Given the description of an element on the screen output the (x, y) to click on. 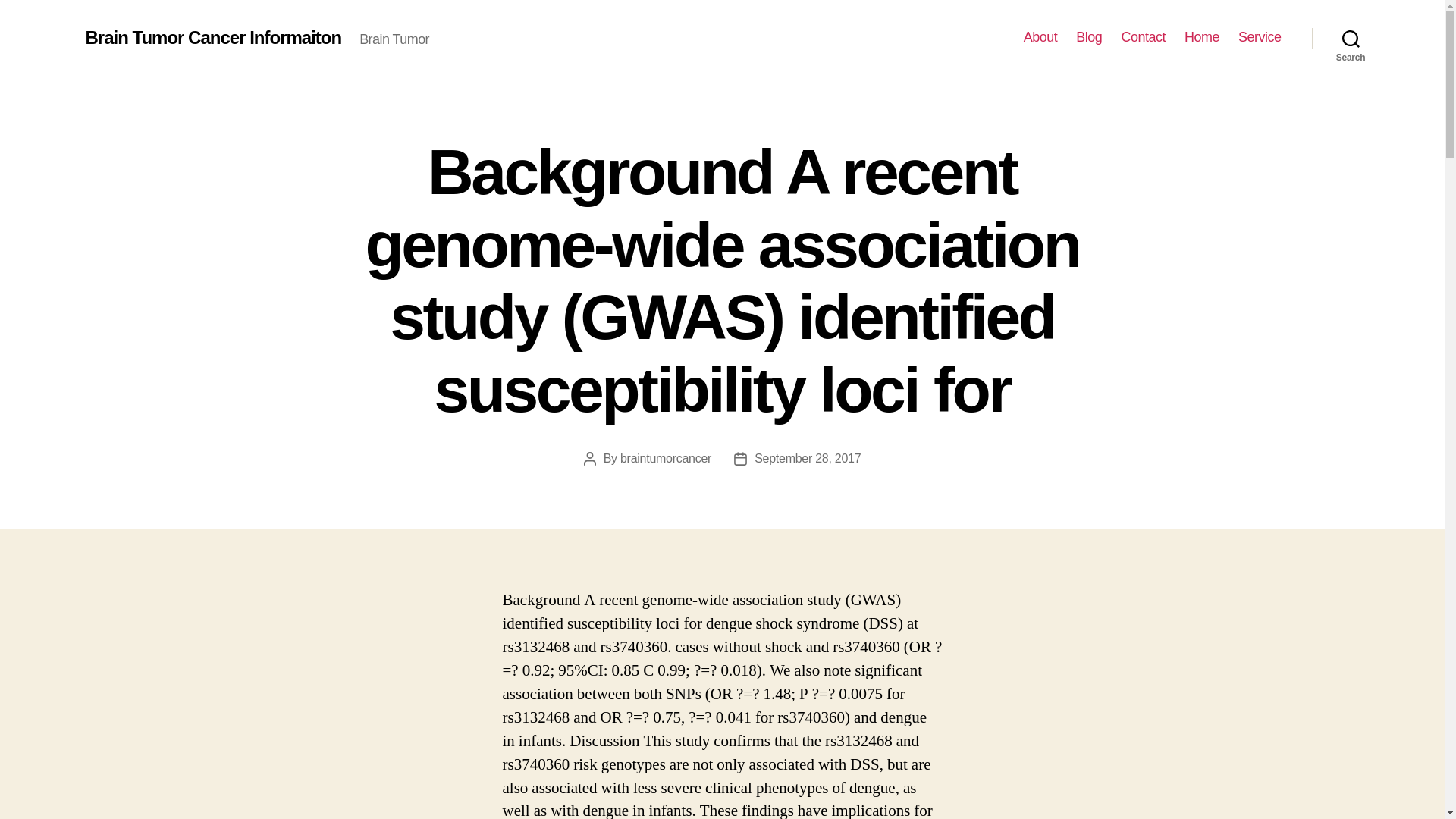
Blog (1088, 37)
Contact (1143, 37)
braintumorcancer (665, 458)
Service (1260, 37)
Brain Tumor Cancer Informaiton (212, 37)
About (1040, 37)
September 28, 2017 (807, 458)
Home (1202, 37)
Search (1350, 37)
